Given the description of an element on the screen output the (x, y) to click on. 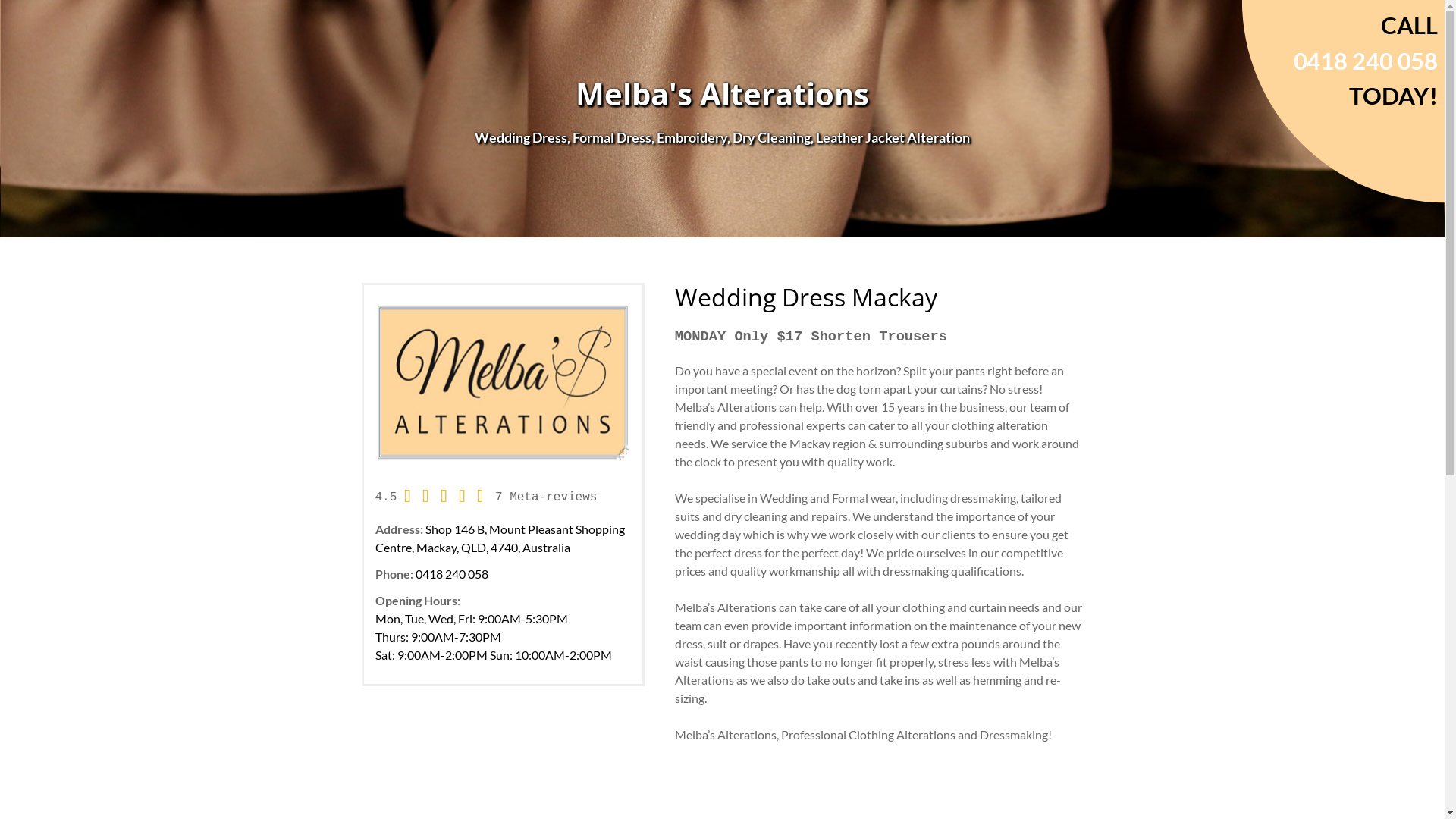
0418 240 058 Element type: text (451, 573)
